Given the description of an element on the screen output the (x, y) to click on. 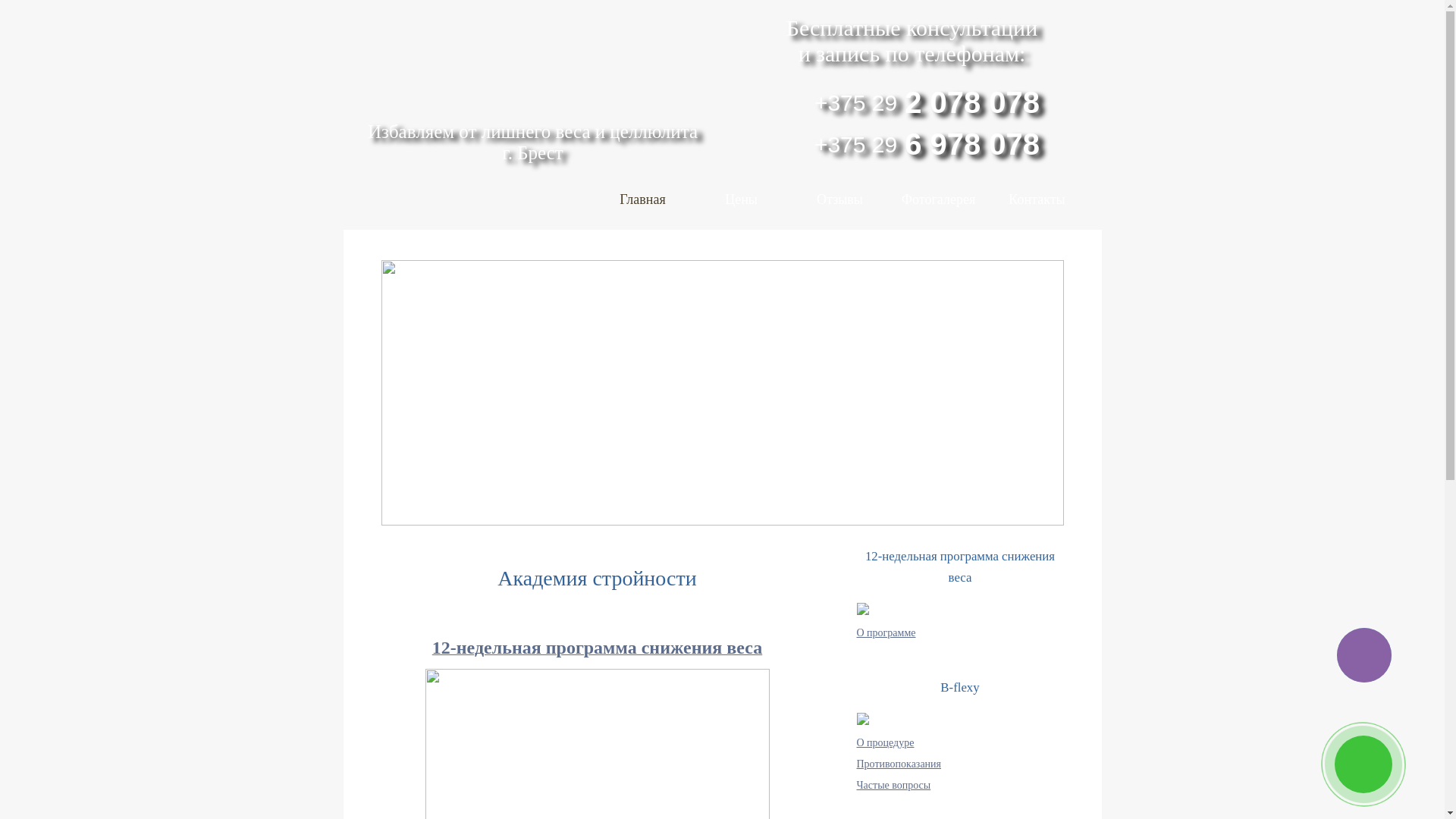
+375 29
2 078 078 Element type: text (911, 102)
+375 29
6 978 078 Element type: text (911, 144)
